Given the description of an element on the screen output the (x, y) to click on. 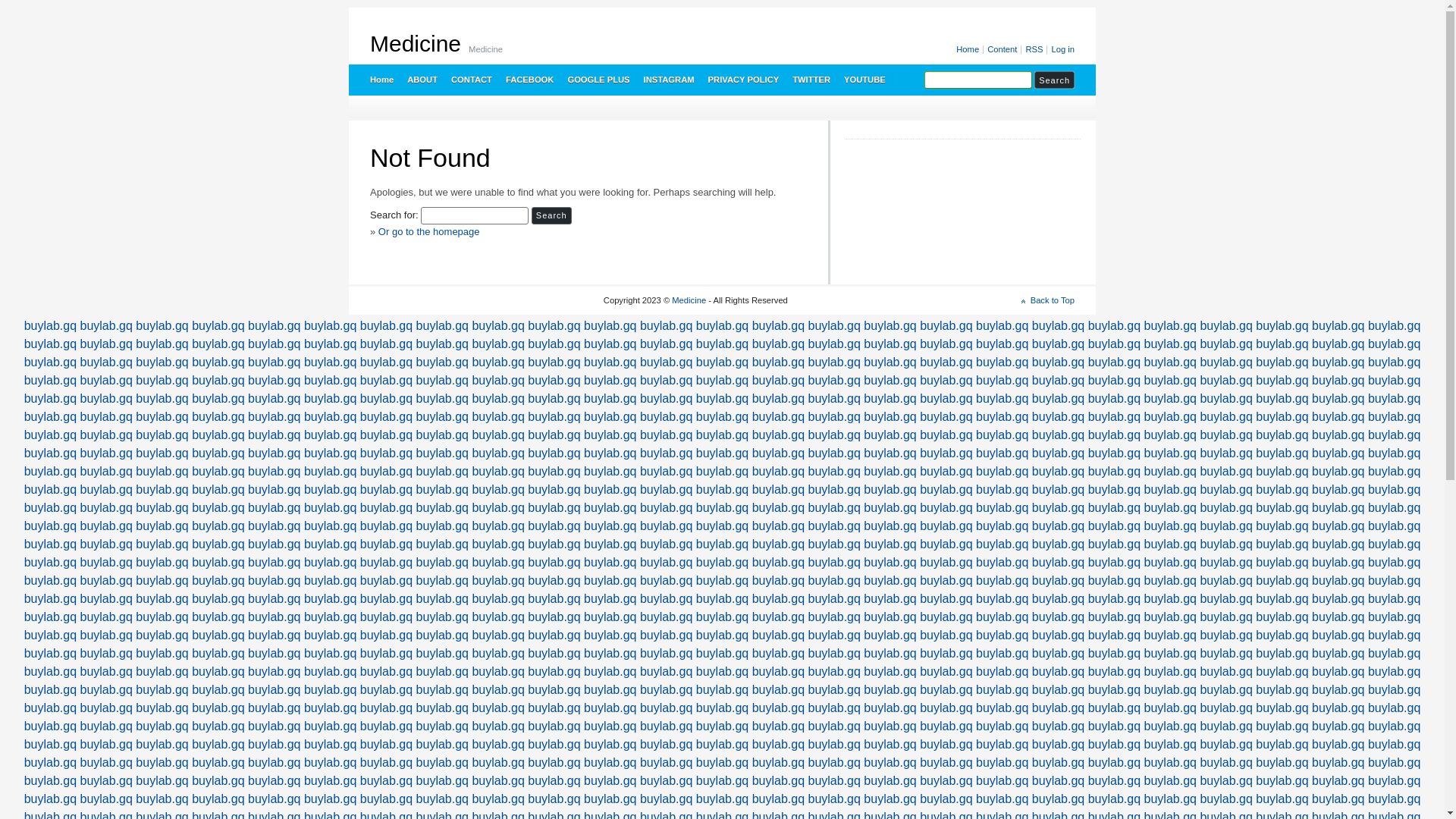
buylab.gq Element type: text (1394, 743)
buylab.gq Element type: text (666, 598)
buylab.gq Element type: text (273, 416)
buylab.gq Element type: text (609, 489)
buylab.gq Element type: text (666, 470)
buylab.gq Element type: text (273, 543)
INSTAGRAM Element type: text (668, 79)
buylab.gq Element type: text (106, 671)
buylab.gq Element type: text (330, 580)
buylab.gq Element type: text (1114, 452)
buylab.gq Element type: text (609, 798)
buylab.gq Element type: text (1170, 416)
buylab.gq Element type: text (666, 652)
buylab.gq Element type: text (1225, 325)
buylab.gq Element type: text (1394, 525)
buylab.gq Element type: text (1114, 379)
buylab.gq Element type: text (1225, 434)
buylab.gq Element type: text (442, 689)
buylab.gq Element type: text (1281, 580)
buylab.gq Element type: text (722, 343)
buylab.gq Element type: text (106, 725)
buylab.gq Element type: text (833, 762)
buylab.gq Element type: text (778, 743)
buylab.gq Element type: text (330, 598)
buylab.gq Element type: text (497, 798)
buylab.gq Element type: text (1170, 616)
buylab.gq Element type: text (833, 707)
buylab.gq Element type: text (217, 379)
buylab.gq Element type: text (1281, 634)
buylab.gq Element type: text (1337, 325)
buylab.gq Element type: text (497, 325)
buylab.gq Element type: text (553, 543)
buylab.gq Element type: text (889, 525)
buylab.gq Element type: text (273, 489)
buylab.gq Element type: text (945, 652)
buylab.gq Element type: text (1225, 507)
buylab.gq Element type: text (666, 671)
buylab.gq Element type: text (497, 671)
buylab.gq Element type: text (330, 434)
buylab.gq Element type: text (442, 634)
buylab.gq Element type: text (778, 689)
buylab.gq Element type: text (330, 343)
buylab.gq Element type: text (833, 434)
buylab.gq Element type: text (722, 525)
buylab.gq Element type: text (1114, 470)
buylab.gq Element type: text (1281, 434)
buylab.gq Element type: text (1281, 507)
buylab.gq Element type: text (889, 361)
buylab.gq Element type: text (889, 707)
buylab.gq Element type: text (161, 325)
buylab.gq Element type: text (609, 762)
buylab.gq Element type: text (330, 561)
buylab.gq Element type: text (833, 561)
buylab.gq Element type: text (106, 634)
buylab.gq Element type: text (609, 743)
buylab.gq Element type: text (1225, 470)
buylab.gq Element type: text (778, 434)
buylab.gq Element type: text (1337, 470)
buylab.gq Element type: text (1337, 743)
buylab.gq Element type: text (666, 489)
buylab.gq Element type: text (442, 398)
buylab.gq Element type: text (217, 580)
buylab.gq Element type: text (778, 671)
buylab.gq Element type: text (217, 343)
buylab.gq Element type: text (833, 780)
buylab.gq Element type: text (778, 452)
buylab.gq Element type: text (106, 707)
buylab.gq Element type: text (945, 580)
buylab.gq Element type: text (386, 525)
buylab.gq Element type: text (722, 416)
buylab.gq Element type: text (945, 707)
buylab.gq Element type: text (1281, 325)
buylab.gq Element type: text (1058, 743)
buylab.gq Element type: text (1170, 689)
buylab.gq Element type: text (217, 707)
buylab.gq Element type: text (833, 652)
buylab.gq Element type: text (778, 616)
Home Element type: text (968, 49)
buylab.gq Element type: text (330, 525)
buylab.gq Element type: text (442, 598)
buylab.gq Element type: text (778, 707)
buylab.gq Element type: text (889, 689)
buylab.gq Element type: text (161, 707)
buylab.gq Element type: text (666, 725)
buylab.gq Element type: text (1001, 525)
buylab.gq Element type: text (666, 361)
buylab.gq Element type: text (497, 379)
buylab.gq Element type: text (217, 798)
buylab.gq Element type: text (553, 762)
buylab.gq Element type: text (833, 743)
buylab.gq Element type: text (273, 561)
buylab.gq Element type: text (1337, 416)
buylab.gq Element type: text (1225, 798)
buylab.gq Element type: text (833, 598)
buylab.gq Element type: text (1225, 671)
buylab.gq Element type: text (1001, 543)
buylab.gq Element type: text (945, 489)
buylab.gq Element type: text (330, 725)
buylab.gq Element type: text (1114, 507)
buylab.gq Element type: text (273, 452)
buylab.gq Element type: text (161, 780)
buylab.gq Element type: text (442, 343)
buylab.gq Element type: text (1001, 798)
buylab.gq Element type: text (1281, 561)
buylab.gq Element type: text (1394, 325)
buylab.gq Element type: text (553, 489)
buylab.gq Element type: text (1114, 489)
buylab.gq Element type: text (330, 798)
buylab.gq Element type: text (1394, 379)
buylab.gq Element type: text (273, 652)
buylab.gq Element type: text (497, 762)
buylab.gq Element type: text (609, 652)
buylab.gq Element type: text (553, 398)
buylab.gq Element type: text (1001, 598)
buylab.gq Element type: text (1225, 762)
buylab.gq Element type: text (1114, 434)
buylab.gq Element type: text (666, 398)
buylab.gq Element type: text (778, 725)
buylab.gq Element type: text (1394, 652)
buylab.gq Element type: text (50, 598)
buylab.gq Element type: text (1394, 616)
buylab.gq Element type: text (833, 634)
buylab.gq Element type: text (106, 780)
buylab.gq Element type: text (1281, 780)
buylab.gq Element type: text (666, 580)
buylab.gq Element type: text (50, 616)
buylab.gq Element type: text (50, 707)
buylab.gq Element type: text (497, 452)
buylab.gq Element type: text (497, 543)
buylab.gq Element type: text (1170, 780)
buylab.gq Element type: text (106, 379)
buylab.gq Element type: text (217, 598)
buylab.gq Element type: text (497, 634)
buylab.gq Element type: text (609, 325)
buylab.gq Element type: text (945, 416)
buylab.gq Element type: text (778, 543)
Medicine Element type: text (415, 43)
Medicine Element type: text (688, 299)
buylab.gq Element type: text (1001, 470)
buylab.gq Element type: text (722, 671)
buylab.gq Element type: text (666, 434)
buylab.gq Element type: text (1001, 379)
buylab.gq Element type: text (553, 689)
buylab.gq Element type: text (945, 598)
buylab.gq Element type: text (666, 780)
buylab.gq Element type: text (330, 616)
buylab.gq Element type: text (1058, 489)
buylab.gq Element type: text (1337, 634)
buylab.gq Element type: text (833, 343)
buylab.gq Element type: text (945, 634)
buylab.gq Element type: text (722, 398)
buylab.gq Element type: text (1170, 798)
buylab.gq Element type: text (1281, 689)
buylab.gq Element type: text (1114, 616)
buylab.gq Element type: text (1225, 652)
buylab.gq Element type: text (442, 561)
buylab.gq Element type: text (1170, 325)
buylab.gq Element type: text (1058, 780)
buylab.gq Element type: text (273, 689)
buylab.gq Element type: text (217, 634)
buylab.gq Element type: text (833, 580)
buylab.gq Element type: text (722, 725)
buylab.gq Element type: text (1337, 398)
buylab.gq Element type: text (161, 361)
buylab.gq Element type: text (1114, 343)
buylab.gq Element type: text (1225, 634)
buylab.gq Element type: text (553, 507)
buylab.gq Element type: text (442, 762)
buylab.gq Element type: text (1281, 525)
buylab.gq Element type: text (442, 361)
buylab.gq Element type: text (889, 780)
Content Element type: text (1003, 49)
buylab.gq Element type: text (1281, 398)
buylab.gq Element type: text (1001, 489)
buylab.gq Element type: text (386, 762)
buylab.gq Element type: text (1058, 416)
buylab.gq Element type: text (609, 561)
buylab.gq Element type: text (1394, 361)
buylab.gq Element type: text (106, 434)
buylab.gq Element type: text (217, 671)
buylab.gq Element type: text (1114, 525)
buylab.gq Element type: text (1001, 725)
buylab.gq Element type: text (497, 361)
buylab.gq Element type: text (945, 762)
buylab.gq Element type: text (497, 616)
buylab.gq Element type: text (1281, 452)
buylab.gq Element type: text (609, 616)
buylab.gq Element type: text (106, 452)
buylab.gq Element type: text (778, 525)
buylab.gq Element type: text (1225, 452)
buylab.gq Element type: text (1337, 452)
buylab.gq Element type: text (442, 416)
buylab.gq Element type: text (1001, 689)
buylab.gq Element type: text (1170, 671)
buylab.gq Element type: text (833, 470)
buylab.gq Element type: text (1001, 452)
buylab.gq Element type: text (666, 689)
buylab.gq Element type: text (778, 507)
buylab.gq Element type: text (273, 707)
buylab.gq Element type: text (1337, 616)
buylab.gq Element type: text (889, 343)
buylab.gq Element type: text (217, 416)
buylab.gq Element type: text (106, 543)
buylab.gq Element type: text (50, 689)
buylab.gq Element type: text (1337, 361)
buylab.gq Element type: text (1114, 689)
buylab.gq Element type: text (1337, 707)
buylab.gq Element type: text (945, 798)
buylab.gq Element type: text (778, 398)
buylab.gq Element type: text (273, 398)
buylab.gq Element type: text (1337, 489)
buylab.gq Element type: text (1337, 780)
buylab.gq Element type: text (1170, 598)
buylab.gq Element type: text (1170, 525)
buylab.gq Element type: text (161, 416)
buylab.gq Element type: text (330, 470)
buylab.gq Element type: text (1225, 343)
buylab.gq Element type: text (1001, 616)
buylab.gq Element type: text (889, 798)
buylab.gq Element type: text (1058, 798)
buylab.gq Element type: text (1170, 580)
buylab.gq Element type: text (945, 452)
buylab.gq Element type: text (666, 743)
buylab.gq Element type: text (666, 762)
buylab.gq Element type: text (50, 452)
buylab.gq Element type: text (1394, 634)
buylab.gq Element type: text (1170, 561)
buylab.gq Element type: text (553, 434)
buylab.gq Element type: text (778, 798)
buylab.gq Element type: text (833, 689)
buylab.gq Element type: text (889, 416)
buylab.gq Element type: text (161, 616)
buylab.gq Element type: text (722, 743)
buylab.gq Element type: text (666, 561)
buylab.gq Element type: text (273, 361)
buylab.gq Element type: text (833, 325)
buylab.gq Element type: text (609, 379)
buylab.gq Element type: text (778, 561)
buylab.gq Element type: text (778, 361)
buylab.gq Element type: text (1114, 561)
buylab.gq Element type: text (1225, 489)
buylab.gq Element type: text (945, 343)
buylab.gq Element type: text (217, 398)
buylab.gq Element type: text (50, 325)
buylab.gq Element type: text (217, 689)
buylab.gq Element type: text (778, 343)
buylab.gq Element type: text (161, 379)
buylab.gq Element type: text (1225, 598)
buylab.gq Element type: text (161, 434)
RSS Element type: text (1035, 49)
buylab.gq Element type: text (553, 707)
buylab.gq Element type: text (833, 616)
buylab.gq Element type: text (666, 543)
buylab.gq Element type: text (553, 361)
buylab.gq Element type: text (330, 780)
buylab.gq Element type: text (386, 470)
buylab.gq Element type: text (1170, 762)
buylab.gq Element type: text (945, 379)
buylab.gq Element type: text (1225, 398)
buylab.gq Element type: text (1225, 780)
buylab.gq Element type: text (1001, 634)
buylab.gq Element type: text (666, 325)
buylab.gq Element type: text (833, 671)
buylab.gq Element type: text (1114, 671)
buylab.gq Element type: text (1225, 725)
buylab.gq Element type: text (497, 580)
buylab.gq Element type: text (386, 671)
buylab.gq Element type: text (330, 652)
buylab.gq Element type: text (161, 543)
buylab.gq Element type: text (442, 707)
buylab.gq Element type: text (442, 780)
buylab.gq Element type: text (273, 434)
buylab.gq Element type: text (1394, 725)
buylab.gq Element type: text (1001, 325)
buylab.gq Element type: text (1114, 598)
buylab.gq Element type: text (161, 507)
buylab.gq Element type: text (666, 343)
buylab.gq Element type: text (1001, 561)
buylab.gq Element type: text (1058, 507)
buylab.gq Element type: text (945, 616)
buylab.gq Element type: text (1114, 634)
buylab.gq Element type: text (497, 652)
buylab.gq Element type: text (553, 325)
GOOGLE PLUS Element type: text (597, 79)
buylab.gq Element type: text (50, 634)
buylab.gq Element type: text (1394, 780)
buylab.gq Element type: text (50, 434)
buylab.gq Element type: text (1114, 580)
buylab.gq Element type: text (553, 470)
ABOUT Element type: text (421, 79)
buylab.gq Element type: text (50, 561)
buylab.gq Element type: text (442, 616)
buylab.gq Element type: text (1337, 507)
buylab.gq Element type: text (1281, 598)
buylab.gq Element type: text (273, 743)
buylab.gq Element type: text (273, 798)
buylab.gq Element type: text (889, 543)
buylab.gq Element type: text (722, 561)
buylab.gq Element type: text (273, 325)
buylab.gq Element type: text (1114, 398)
buylab.gq Element type: text (273, 616)
buylab.gq Element type: text (1337, 580)
buylab.gq Element type: text (553, 616)
buylab.gq Element type: text (273, 343)
buylab.gq Element type: text (1394, 398)
buylab.gq Element type: text (1114, 762)
Log in Element type: text (1061, 49)
buylab.gq Element type: text (1170, 652)
buylab.gq Element type: text (1281, 725)
buylab.gq Element type: text (833, 525)
Home Element type: text (380, 79)
buylab.gq Element type: text (945, 507)
buylab.gq Element type: text (161, 634)
buylab.gq Element type: text (553, 725)
buylab.gq Element type: text (666, 416)
buylab.gq Element type: text (1281, 416)
buylab.gq Element type: text (1337, 671)
buylab.gq Element type: text (553, 798)
buylab.gq Element type: text (1394, 762)
buylab.gq Element type: text (833, 543)
buylab.gq Element type: text (161, 489)
buylab.gq Element type: text (217, 470)
buylab.gq Element type: text (217, 780)
buylab.gq Element type: text (609, 598)
buylab.gq Element type: text (217, 452)
buylab.gq Element type: text (217, 561)
buylab.gq Element type: text (1170, 434)
buylab.gq Element type: text (273, 580)
buylab.gq Element type: text (722, 543)
buylab.gq Element type: text (1114, 725)
buylab.gq Element type: text (50, 416)
buylab.gq Element type: text (386, 452)
buylab.gq Element type: text (1394, 470)
buylab.gq Element type: text (1001, 671)
buylab.gq Element type: text (386, 616)
buylab.gq Element type: text (1114, 325)
buylab.gq Element type: text (330, 707)
buylab.gq Element type: text (497, 743)
buylab.gq Element type: text (1394, 561)
buylab.gq Element type: text (889, 398)
buylab.gq Element type: text (442, 434)
buylab.gq Element type: text (330, 743)
buylab.gq Element type: text (386, 689)
buylab.gq Element type: text (273, 762)
buylab.gq Element type: text (50, 489)
buylab.gq Element type: text (106, 743)
buylab.gq Element type: text (161, 798)
buylab.gq Element type: text (1281, 798)
buylab.gq Element type: text (50, 361)
buylab.gq Element type: text (1281, 652)
buylab.gq Element type: text (50, 343)
buylab.gq Element type: text (497, 489)
buylab.gq Element type: text (1058, 634)
buylab.gq Element type: text (161, 561)
buylab.gq Element type: text (1058, 707)
buylab.gq Element type: text (778, 598)
buylab.gq Element type: text (553, 780)
buylab.gq Element type: text (609, 780)
buylab.gq Element type: text (1225, 743)
buylab.gq Element type: text (497, 725)
buylab.gq Element type: text (1225, 707)
buylab.gq Element type: text (778, 652)
buylab.gq Element type: text (386, 325)
buylab.gq Element type: text (1394, 489)
buylab.gq Element type: text (666, 634)
buylab.gq Element type: text (609, 416)
buylab.gq Element type: text (1170, 343)
buylab.gq Element type: text (833, 725)
buylab.gq Element type: text (1114, 780)
buylab.gq Element type: text (217, 489)
buylab.gq Element type: text (553, 743)
buylab.gq Element type: text (330, 416)
buylab.gq Element type: text (106, 489)
buylab.gq Element type: text (217, 762)
buylab.gq Element type: text (1058, 689)
buylab.gq Element type: text (1337, 725)
buylab.gq Element type: text (778, 634)
buylab.gq Element type: text (161, 689)
buylab.gq Element type: text (1001, 762)
buylab.gq Element type: text (497, 507)
Or go to the homepage Element type: text (429, 231)
buylab.gq Element type: text (50, 398)
buylab.gq Element type: text (609, 543)
buylab.gq Element type: text (1170, 507)
buylab.gq Element type: text (833, 507)
buylab.gq Element type: text (330, 325)
buylab.gq Element type: text (330, 634)
buylab.gq Element type: text (722, 762)
buylab.gq Element type: text (609, 671)
buylab.gq Element type: text (273, 671)
CONTACT Element type: text (470, 79)
buylab.gq Element type: text (442, 379)
buylab.gq Element type: text (609, 470)
buylab.gq Element type: text (666, 507)
buylab.gq Element type: text (497, 707)
buylab.gq Element type: text (217, 743)
buylab.gq Element type: text (1114, 707)
buylab.gq Element type: text (722, 452)
buylab.gq Element type: text (217, 725)
buylab.gq Element type: text (50, 671)
buylab.gq Element type: text (442, 743)
buylab.gq Element type: text (106, 398)
buylab.gq Element type: text (1225, 379)
buylab.gq Element type: text (666, 379)
buylab.gq Element type: text (273, 379)
buylab.gq Element type: text (1001, 416)
buylab.gq Element type: text (1058, 434)
buylab.gq Element type: text (722, 634)
buylab.gq Element type: text (1281, 489)
buylab.gq Element type: text (217, 434)
buylab.gq Element type: text (497, 470)
buylab.gq Element type: text (778, 416)
buylab.gq Element type: text (386, 416)
buylab.gq Element type: text (722, 689)
buylab.gq Element type: text (442, 507)
buylab.gq Element type: text (945, 434)
buylab.gq Element type: text (442, 671)
buylab.gq Element type: text (1337, 561)
buylab.gq Element type: text (889, 634)
buylab.gq Element type: text (1170, 634)
buylab.gq Element type: text (497, 434)
buylab.gq Element type: text (1114, 652)
buylab.gq Element type: text (778, 379)
buylab.gq Element type: text (386, 361)
buylab.gq Element type: text (50, 525)
buylab.gq Element type: text (442, 452)
buylab.gq Element type: text (609, 525)
buylab.gq Element type: text (1281, 743)
buylab.gq Element type: text (217, 525)
buylab.gq Element type: text (722, 434)
buylab.gq Element type: text (106, 470)
buylab.gq Element type: text (442, 798)
buylab.gq Element type: text (497, 598)
buylab.gq Element type: text (553, 416)
buylab.gq Element type: text (386, 598)
buylab.gq Element type: text (609, 689)
buylab.gq Element type: text (330, 361)
buylab.gq Element type: text (553, 652)
buylab.gq Element type: text (217, 543)
buylab.gq Element type: text (1058, 616)
buylab.gq Element type: text (497, 398)
buylab.gq Element type: text (945, 525)
buylab.gq Element type: text (1281, 343)
buylab.gq Element type: text (945, 325)
buylab.gq Element type: text (161, 652)
buylab.gq Element type: text (1337, 343)
buylab.gq Element type: text (497, 343)
buylab.gq Element type: text (1394, 798)
buylab.gq Element type: text (106, 616)
buylab.gq Element type: text (778, 470)
buylab.gq Element type: text (1281, 543)
buylab.gq Element type: text (386, 543)
buylab.gq Element type: text (273, 780)
buylab.gq Element type: text (1058, 561)
buylab.gq Element type: text (889, 580)
buylab.gq Element type: text (609, 361)
buylab.gq Element type: text (553, 379)
buylab.gq Element type: text (945, 780)
Search Element type: text (551, 215)
PRIVACY POLICY Element type: text (742, 79)
buylab.gq Element type: text (833, 361)
buylab.gq Element type: text (1281, 616)
buylab.gq Element type: text (722, 507)
buylab.gq Element type: text (497, 561)
buylab.gq Element type: text (1337, 762)
buylab.gq Element type: text (1058, 598)
buylab.gq Element type: text (217, 652)
buylab.gq Element type: text (722, 489)
buylab.gq Element type: text (497, 416)
buylab.gq Element type: text (1001, 707)
buylab.gq Element type: text (1170, 470)
buylab.gq Element type: text (553, 580)
buylab.gq Element type: text (1394, 671)
buylab.gq Element type: text (722, 361)
buylab.gq Element type: text (386, 652)
buylab.gq Element type: text (778, 780)
buylab.gq Element type: text (1281, 470)
buylab.gq Element type: text (217, 616)
buylab.gq Element type: text (273, 725)
buylab.gq Element type: text (386, 507)
buylab.gq Element type: text (1281, 671)
buylab.gq Element type: text (833, 452)
buylab.gq Element type: text (1225, 580)
buylab.gq Element type: text (553, 634)
buylab.gq Element type: text (889, 671)
buylab.gq Element type: text (106, 416)
buylab.gq Element type: text (945, 398)
buylab.gq Element type: text (330, 379)
buylab.gq Element type: text (497, 525)
buylab.gq Element type: text (386, 434)
buylab.gq Element type: text (161, 470)
buylab.gq Element type: text (945, 689)
buylab.gq Element type: text (50, 379)
buylab.gq Element type: text (609, 634)
buylab.gq Element type: text (1225, 525)
buylab.gq Element type: text (889, 743)
buylab.gq Element type: text (889, 452)
buylab.gq Element type: text (553, 452)
buylab.gq Element type: text (50, 743)
buylab.gq Element type: text (666, 616)
buylab.gq Element type: text (609, 725)
buylab.gq Element type: text (889, 434)
buylab.gq Element type: text (833, 416)
buylab.gq Element type: text (106, 689)
buylab.gq Element type: text (1170, 743)
buylab.gq Element type: text (1058, 361)
buylab.gq Element type: text (1170, 361)
buylab.gq Element type: text (161, 580)
buylab.gq Element type: text (1225, 689)
buylab.gq Element type: text (553, 561)
buylab.gq Element type: text (50, 652)
buylab.gq Element type: text (1337, 798)
buylab.gq Element type: text (1114, 543)
buylab.gq Element type: text (945, 725)
buylab.gq Element type: text (273, 507)
buylab.gq Element type: text (1394, 452)
buylab.gq Element type: text (1058, 725)
buylab.gq Element type: text (1337, 379)
buylab.gq Element type: text (106, 343)
buylab.gq Element type: text (945, 743)
buylab.gq Element type: text (1001, 780)
buylab.gq Element type: text (161, 398)
buylab.gq Element type: text (1394, 543)
buylab.gq Element type: text (609, 434)
buylab.gq Element type: text (161, 671)
buylab.gq Element type: text (1001, 361)
buylab.gq Element type: text (1394, 434)
buylab.gq Element type: text (161, 598)
buylab.gq Element type: text (386, 798)
buylab.gq Element type: text (666, 525)
buylab.gq Element type: text (442, 525)
buylab.gq Element type: text (1225, 561)
buylab.gq Element type: text (386, 561)
buylab.gq Element type: text (778, 580)
buylab.gq Element type: text (1225, 543)
buylab.gq Element type: text (1225, 616)
buylab.gq Element type: text (945, 470)
buylab.gq Element type: text (1001, 398)
buylab.gq Element type: text (497, 780)
buylab.gq Element type: text (161, 762)
buylab.gq Element type: text (1114, 416)
buylab.gq Element type: text (1170, 707)
buylab.gq Element type: text (833, 398)
buylab.gq Element type: text (106, 361)
buylab.gq Element type: text (1394, 707)
buylab.gq Element type: text (889, 762)
buylab.gq Element type: text (273, 598)
buylab.gq Element type: text (1114, 743)
buylab.gq Element type: text (217, 361)
buylab.gq Element type: text (722, 580)
buylab.gq Element type: text (609, 507)
buylab.gq Element type: text (889, 470)
buylab.gq Element type: text (1225, 416)
buylab.gq Element type: text (778, 489)
buylab.gq Element type: text (161, 725)
buylab.gq Element type: text (106, 598)
buylab.gq Element type: text (1170, 379)
buylab.gq Element type: text (1114, 798)
buylab.gq Element type: text (50, 470)
buylab.gq Element type: text (889, 489)
buylab.gq Element type: text (386, 398)
buylab.gq Element type: text (1058, 671)
Back to Top Element type: text (1047, 299)
buylab.gq Element type: text (609, 398)
buylab.gq Element type: text (1001, 652)
buylab.gq Element type: text (386, 743)
buylab.gq Element type: text (1001, 343)
Search Element type: text (1054, 79)
buylab.gq Element type: text (889, 598)
buylab.gq Element type: text (889, 325)
buylab.gq Element type: text (161, 343)
buylab.gq Element type: text (722, 598)
buylab.gq Element type: text (945, 361)
buylab.gq Element type: text (1001, 434)
buylab.gq Element type: text (722, 780)
buylab.gq Element type: text (330, 398)
buylab.gq Element type: text (442, 489)
buylab.gq Element type: text (442, 652)
buylab.gq Element type: text (1058, 379)
YOUTUBE Element type: text (863, 79)
buylab.gq Element type: text (330, 507)
buylab.gq Element type: text (50, 507)
buylab.gq Element type: text (1170, 543)
buylab.gq Element type: text (722, 707)
buylab.gq Element type: text (1001, 743)
buylab.gq Element type: text (106, 580)
buylab.gq Element type: text (1394, 416)
buylab.gq Element type: text (722, 379)
buylab.gq Element type: text (553, 343)
buylab.gq Element type: text (386, 343)
buylab.gq Element type: text (273, 634)
buylab.gq Element type: text (1337, 689)
buylab.gq Element type: text (945, 561)
buylab.gq Element type: text (553, 525)
buylab.gq Element type: text (330, 671)
buylab.gq Element type: text (1058, 343)
buylab.gq Element type: text (778, 325)
buylab.gq Element type: text (161, 743)
buylab.gq Element type: text (1394, 507)
buylab.gq Element type: text (442, 325)
buylab.gq Element type: text (1058, 543)
buylab.gq Element type: text (1337, 434)
buylab.gq Element type: text (106, 561)
buylab.gq Element type: text (1170, 398)
buylab.gq Element type: text (889, 379)
buylab.gq Element type: text (1281, 361)
buylab.gq Element type: text (609, 452)
buylab.gq Element type: text (778, 762)
buylab.gq Element type: text (386, 580)
buylab.gq Element type: text (1058, 398)
buylab.gq Element type: text (1394, 689)
buylab.gq Element type: text (609, 707)
buylab.gq Element type: text (1058, 580)
buylab.gq Element type: text (386, 489)
buylab.gq Element type: text (1281, 707)
buylab.gq Element type: text (217, 507)
buylab.gq Element type: text (1001, 507)
buylab.gq Element type: text (1058, 452)
buylab.gq Element type: text (553, 671)
buylab.gq Element type: text (1281, 379)
buylab.gq Element type: text (833, 798)
buylab.gq Element type: text (386, 725)
buylab.gq Element type: text (50, 780)
buylab.gq Element type: text (1337, 525)
buylab.gq Element type: text (833, 489)
buylab.gq Element type: text (106, 652)
buylab.gq Element type: text (330, 543)
buylab.gq Element type: text (722, 470)
buylab.gq Element type: text (1394, 598)
buylab.gq Element type: text (889, 616)
buylab.gq Element type: text (106, 525)
buylab.gq Element type: text (722, 798)
buylab.gq Element type: text (609, 343)
buylab.gq Element type: text (50, 798)
buylab.gq Element type: text (722, 325)
buylab.gq Element type: text (889, 507)
buylab.gq Element type: text (1001, 580)
buylab.gq Element type: text (1337, 598)
buylab.gq Element type: text (1225, 361)
buylab.gq Element type: text (1114, 361)
buylab.gq Element type: text (106, 325)
buylab.gq Element type: text (50, 543)
buylab.gq Element type: text (1337, 543)
buylab.gq Element type: text (1394, 343)
buylab.gq Element type: text (1337, 652)
buylab.gq Element type: text (50, 725)
buylab.gq Element type: text (1170, 452)
buylab.gq Element type: text (889, 725)
buylab.gq Element type: text (1058, 652)
buylab.gq Element type: text (273, 525)
buylab.gq Element type: text (553, 598)
buylab.gq Element type: text (1170, 489)
buylab.gq Element type: text (497, 689)
buylab.gq Element type: text (217, 325)
buylab.gq Element type: text (330, 489)
buylab.gq Element type: text (386, 780)
buylab.gq Element type: text (106, 798)
buylab.gq Element type: text (161, 452)
buylab.gq Element type: text (330, 452)
buylab.gq Element type: text (666, 452)
buylab.gq Element type: text (889, 561)
buylab.gq Element type: text (1281, 762)
buylab.gq Element type: text (442, 543)
buylab.gq Element type: text (442, 725)
buylab.gq Element type: text (442, 470)
buylab.gq Element type: text (386, 707)
buylab.gq Element type: text (1170, 725)
buylab.gq Element type: text (161, 525)
buylab.gq Element type: text (1058, 525)
buylab.gq Element type: text (945, 671)
buylab.gq Element type: text (273, 470)
buylab.gq Element type: text (889, 652)
buylab.gq Element type: text (945, 543)
buylab.gq Element type: text (666, 798)
FACEBOOK Element type: text (529, 79)
buylab.gq Element type: text (330, 762)
buylab.gq Element type: text (833, 379)
buylab.gq Element type: text (106, 762)
buylab.gq Element type: text (442, 580)
buylab.gq Element type: text (106, 507)
buylab.gq Element type: text (50, 762)
buylab.gq Element type: text (386, 379)
buylab.gq Element type: text (1058, 470)
buylab.gq Element type: text (666, 707)
buylab.gq Element type: text (330, 689)
buylab.gq Element type: text (722, 616)
buylab.gq Element type: text (386, 634)
buylab.gq Element type: text (1058, 325)
buylab.gq Element type: text (50, 580)
buylab.gq Element type: text (609, 580)
buylab.gq Element type: text (1058, 762)
buylab.gq Element type: text (1394, 580)
buylab.gq Element type: text (722, 652)
TWITTER Element type: text (810, 79)
